Given the description of an element on the screen output the (x, y) to click on. 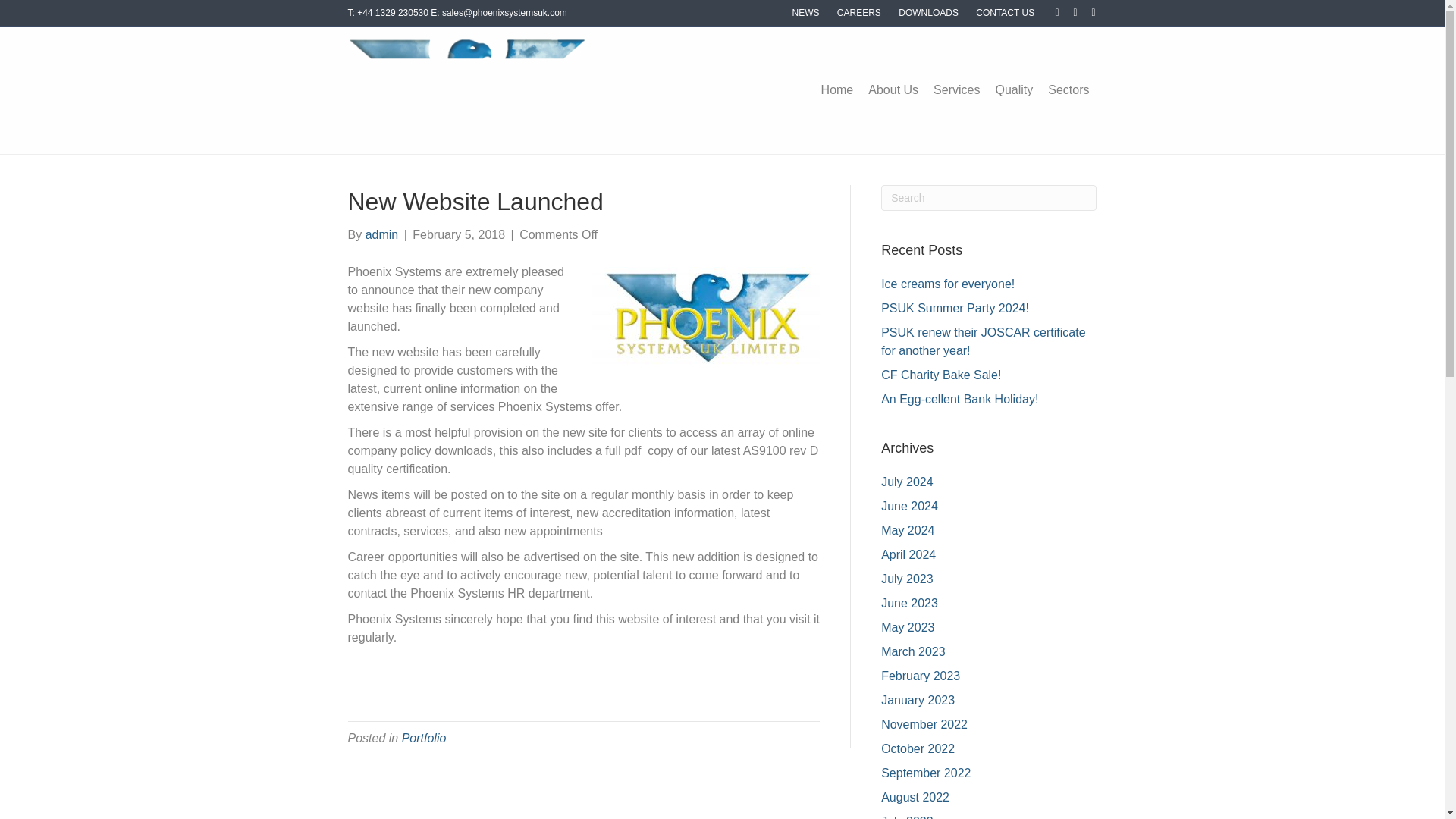
Quality (1014, 89)
About Us (893, 89)
admin (381, 234)
CAREERS (858, 13)
Sectors (1068, 89)
Youtube (1067, 11)
NEWS (805, 13)
DOWNLOADS (928, 13)
Type and press Enter to search. (988, 197)
Home (837, 89)
